Given the description of an element on the screen output the (x, y) to click on. 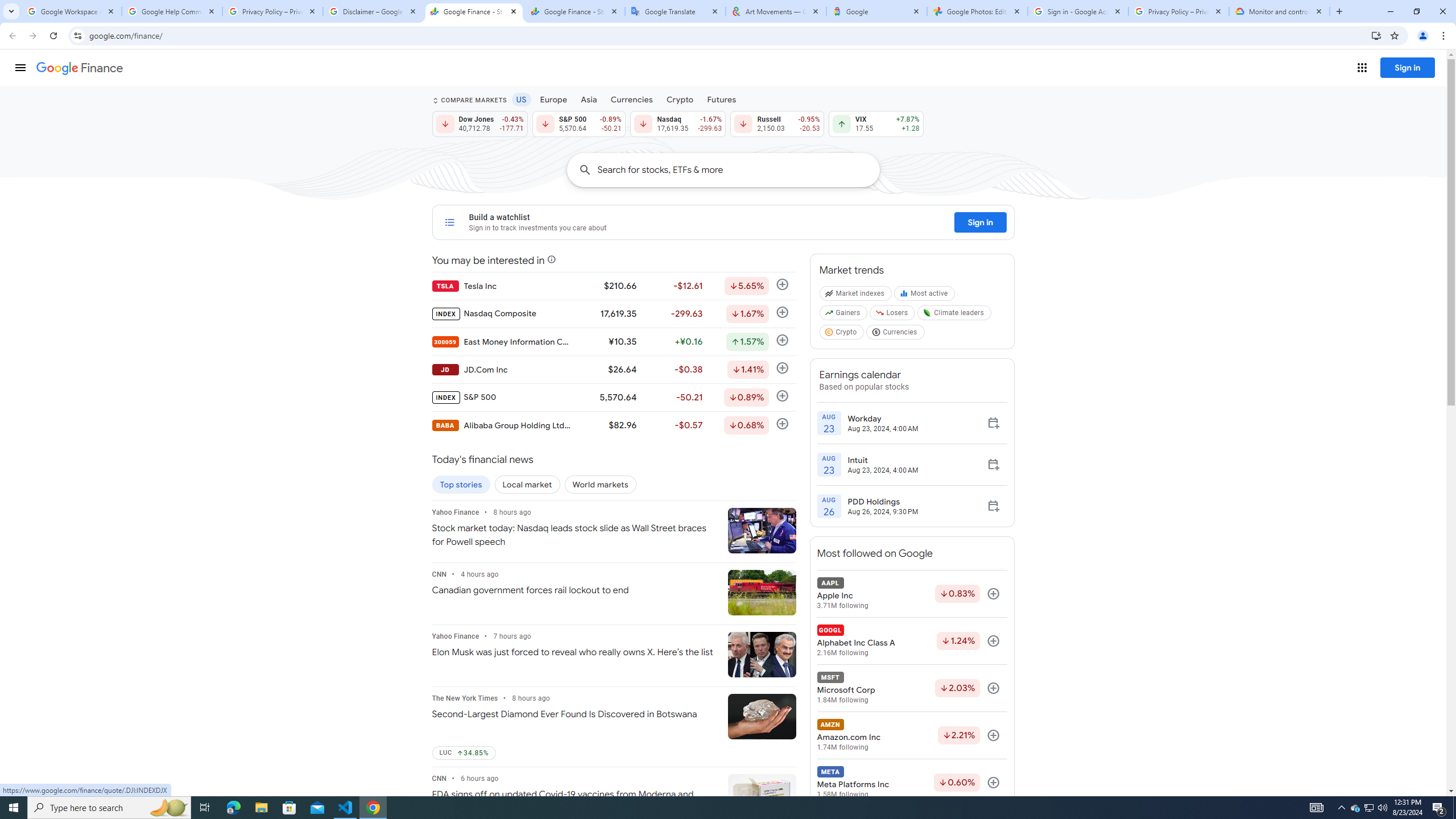
Finance (79, 68)
Europe (553, 99)
Local market (526, 484)
Install Google Finance (1376, 35)
Intuit (882, 460)
MSFT Microsoft Corp 1.84M following Down by 2.03% Follow (911, 688)
Sign in - Google Accounts (1078, 11)
Dow Jones 40,712.78 Down by 0.43% -177.71 (478, 123)
